Given the description of an element on the screen output the (x, y) to click on. 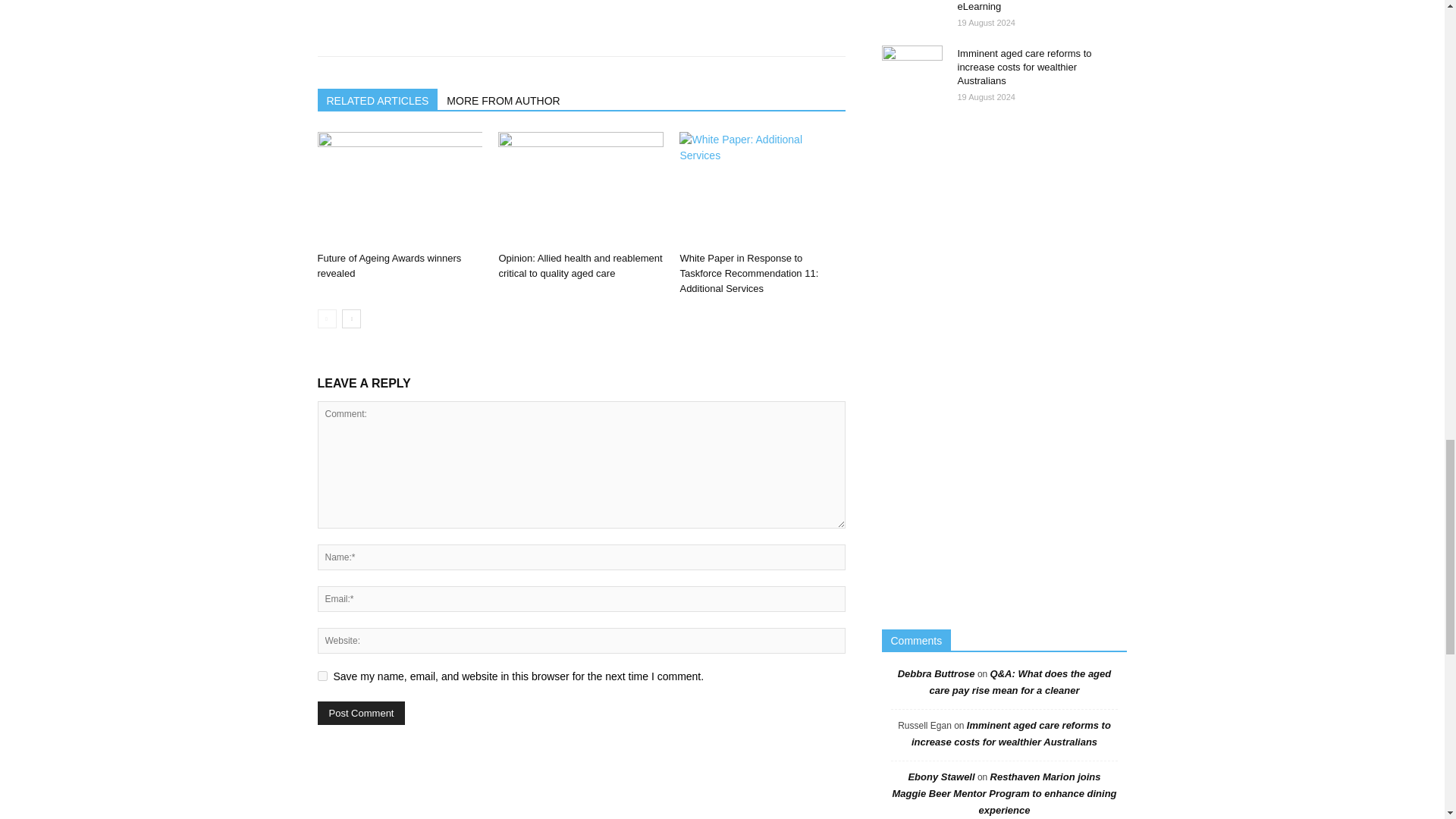
Future of Ageing Awards winners revealed (389, 265)
Future of Ageing Awards winners revealed (399, 188)
yes (321, 675)
Post Comment (360, 712)
